Given the description of an element on the screen output the (x, y) to click on. 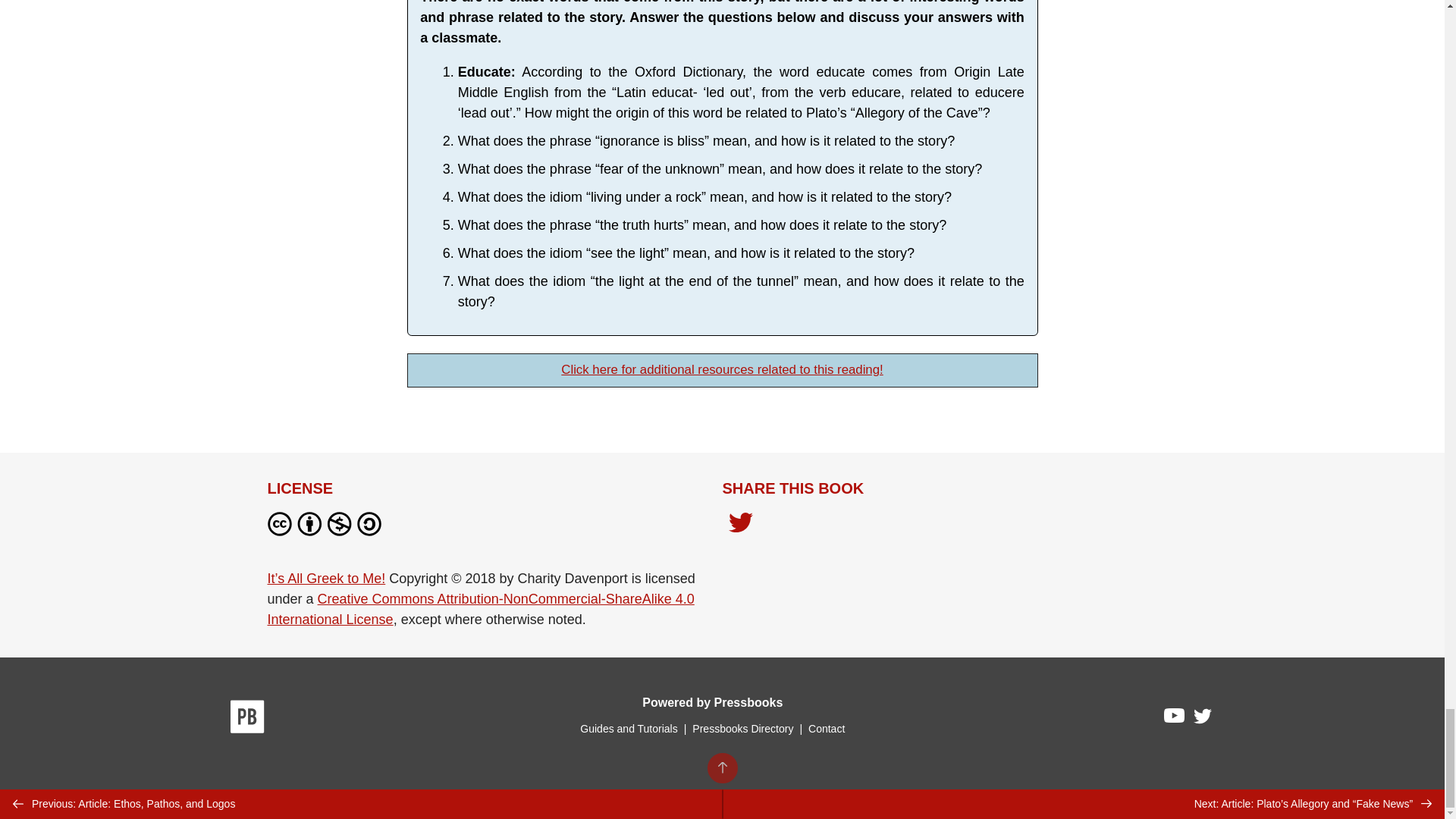
Click here for additional resources related to this reading! (721, 369)
Pressbooks Directory (742, 728)
Contact (826, 728)
Share on Twitter (740, 526)
Pressbooks on YouTube (1174, 719)
Share on Twitter (740, 523)
Guides and Tutorials (627, 728)
Powered by Pressbooks (712, 702)
